Given the description of an element on the screen output the (x, y) to click on. 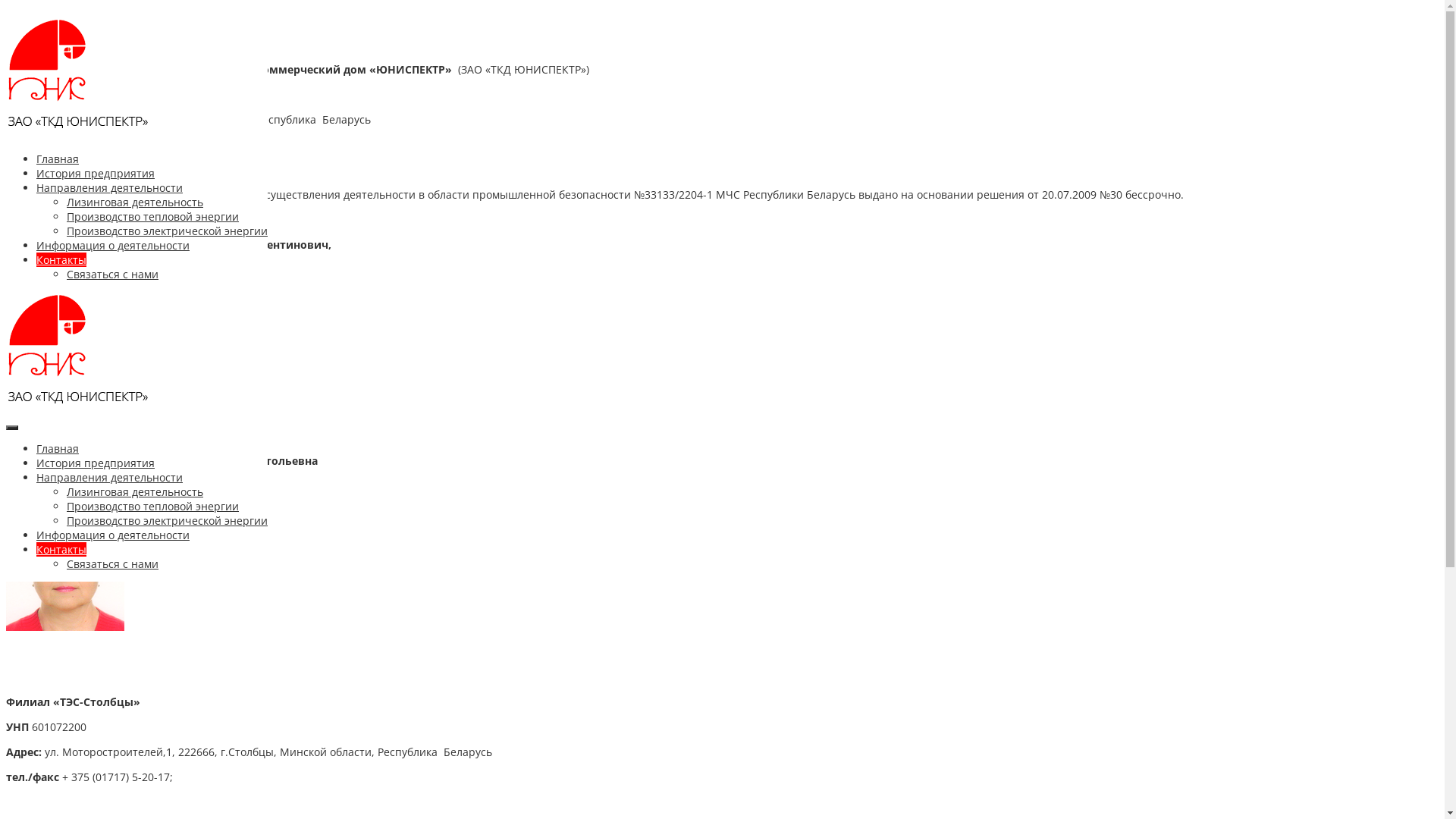
@ Element type: text (49, 169)
